Given the description of an element on the screen output the (x, y) to click on. 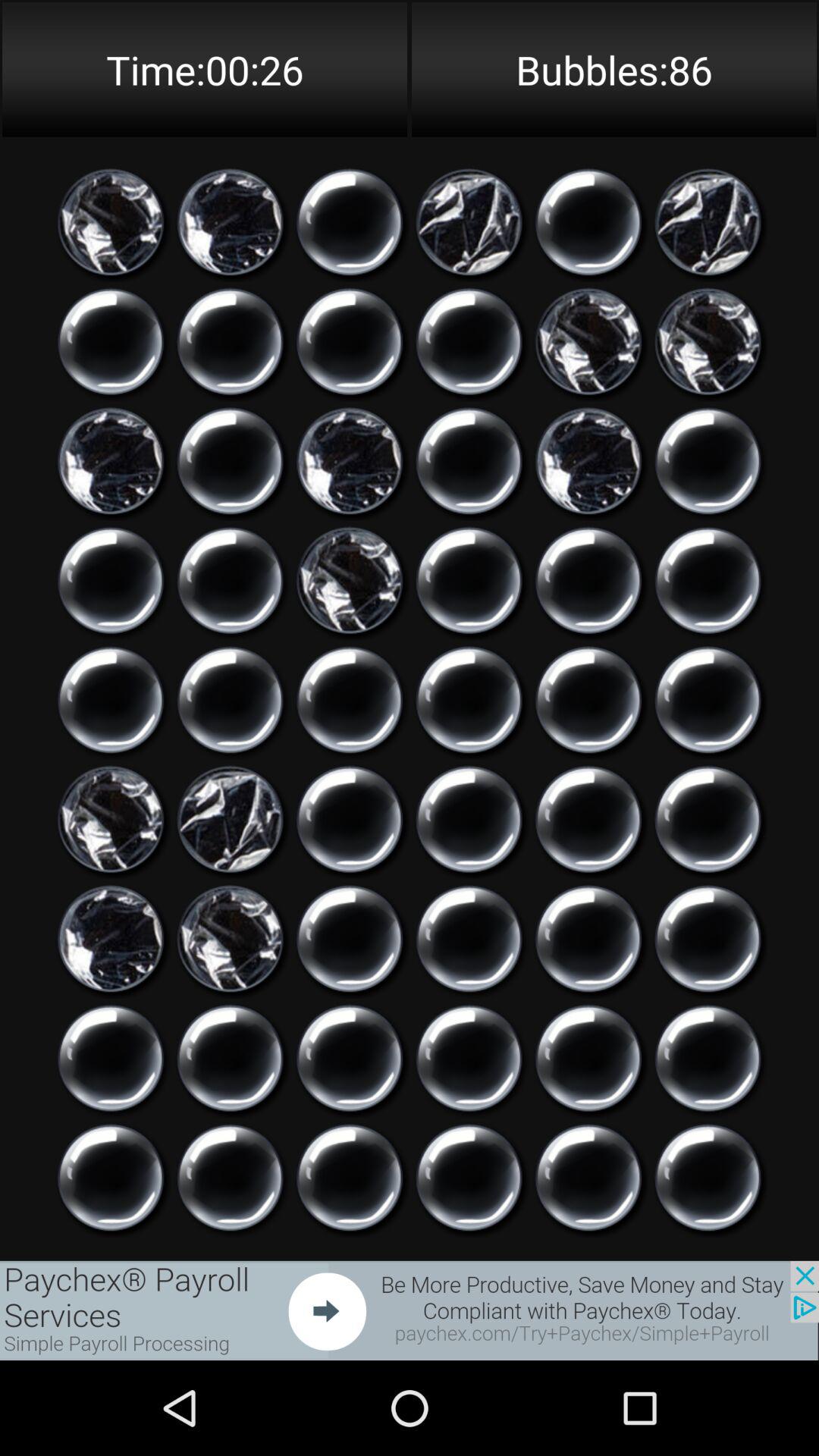
option (588, 580)
